Given the description of an element on the screen output the (x, y) to click on. 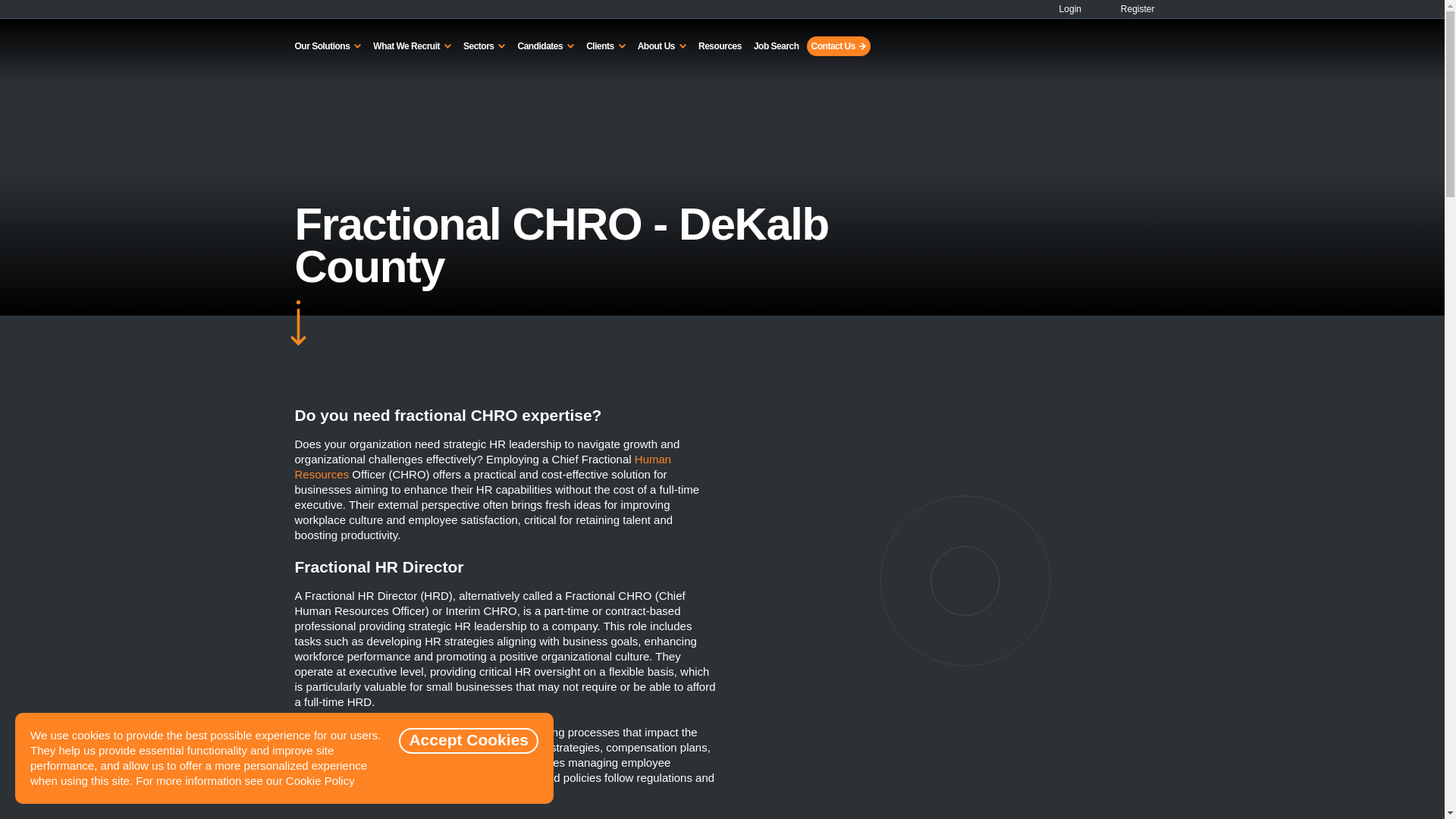
Our Solutions (327, 46)
What We Recruit (411, 46)
Login (1063, 9)
Sectors (484, 46)
Register (1128, 9)
Candidates (545, 46)
